Given the description of an element on the screen output the (x, y) to click on. 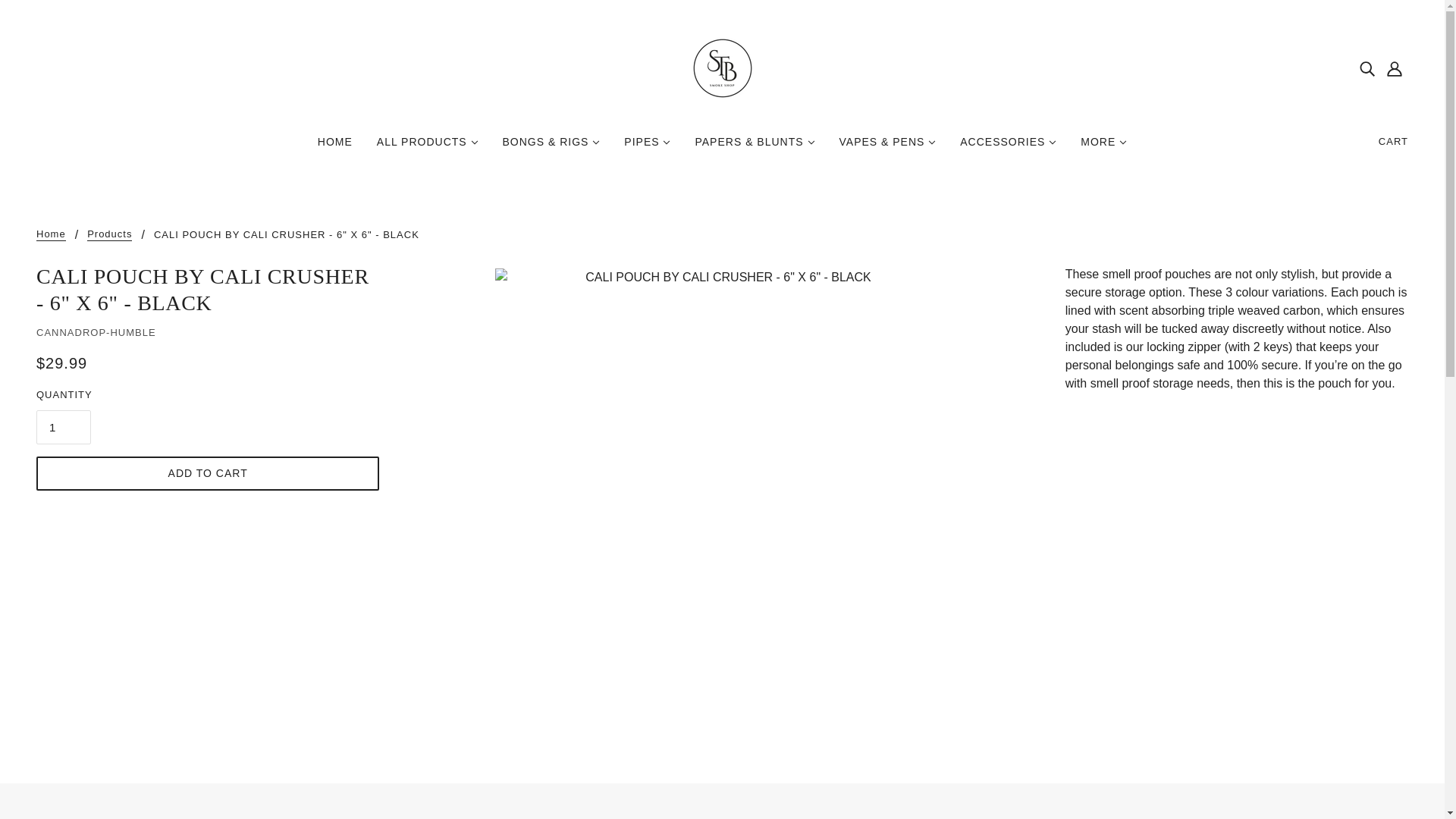
PIPES (646, 147)
HOME (335, 147)
ALL PRODUCTS (427, 147)
1 (63, 427)
stbsmokeshop (722, 66)
